Given the description of an element on the screen output the (x, y) to click on. 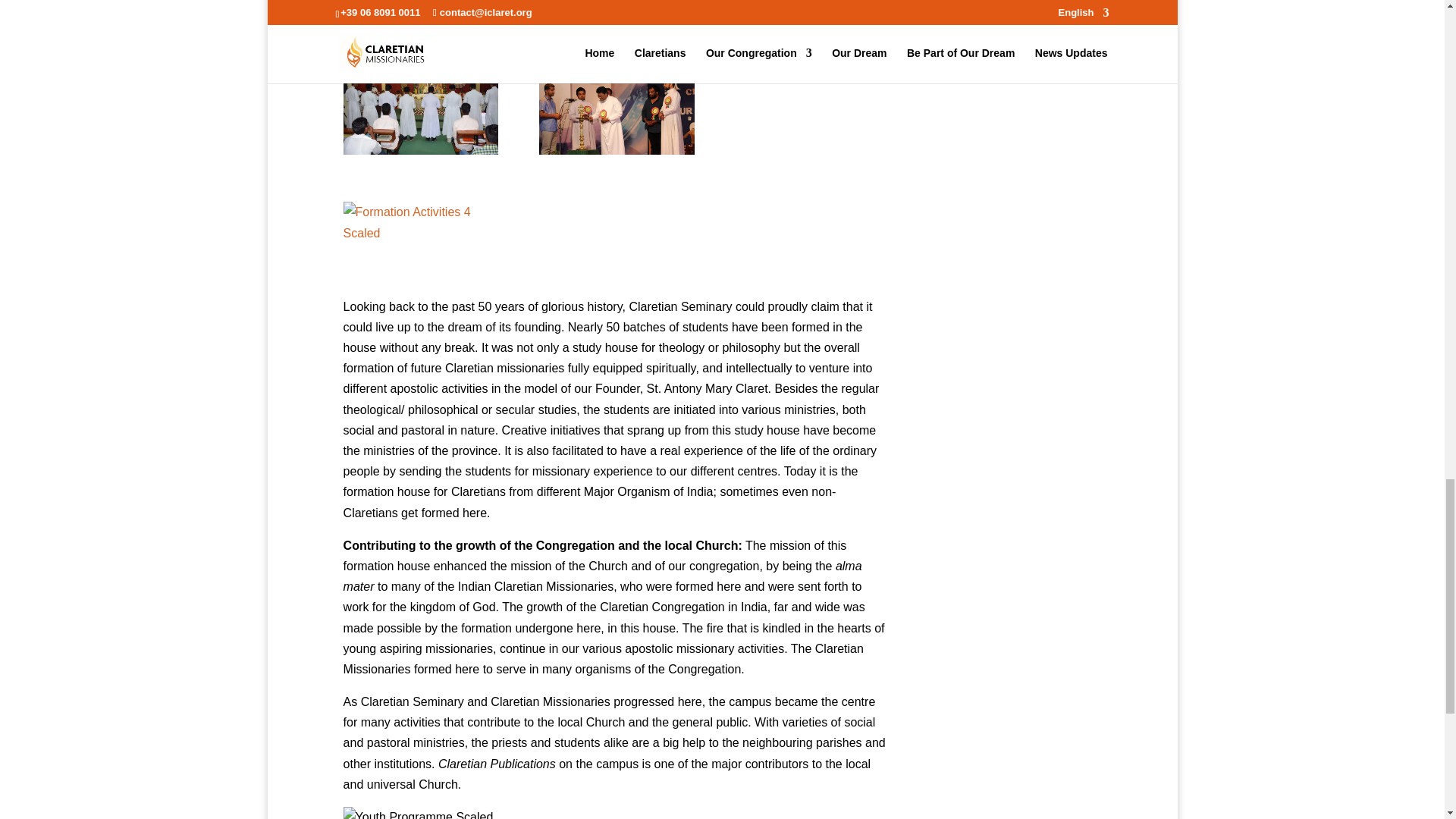
Formation Activities 1 scaled 2 (421, 99)
Formation Activities 31 scaled 3 (616, 99)
